Given the description of an element on the screen output the (x, y) to click on. 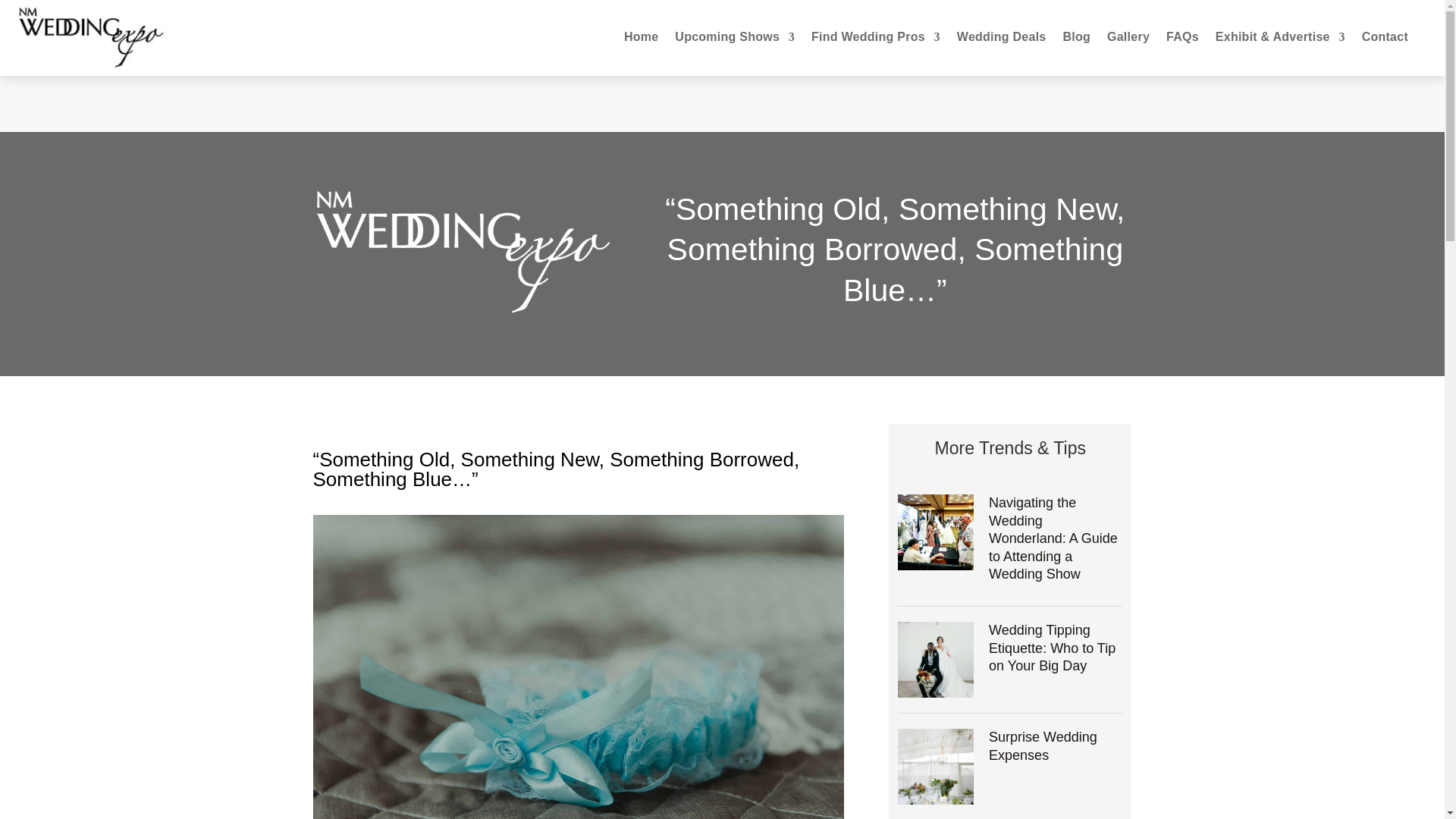
Upcoming Shows (734, 36)
Wedding Deals (1001, 36)
Find Wedding Pros (875, 36)
NM-Wedding-Expo-Whilte-Logo (462, 251)
